Given the description of an element on the screen output the (x, y) to click on. 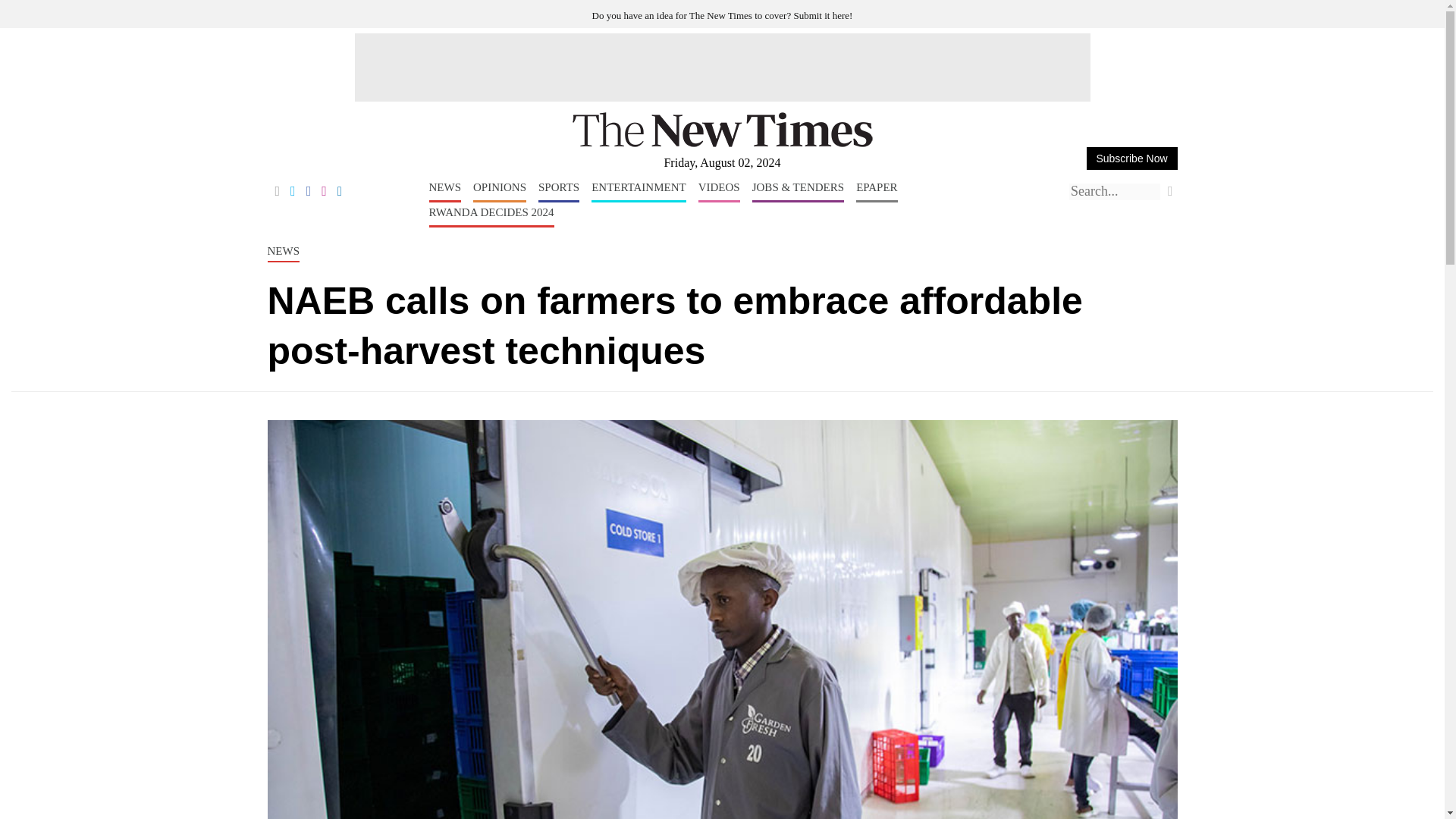
Subscribe Now (1131, 158)
OPINIONS (499, 191)
Submit New Ideas (722, 15)
SPORTS (558, 191)
News (445, 191)
The New Times (721, 144)
NEWS (445, 191)
